Given the description of an element on the screen output the (x, y) to click on. 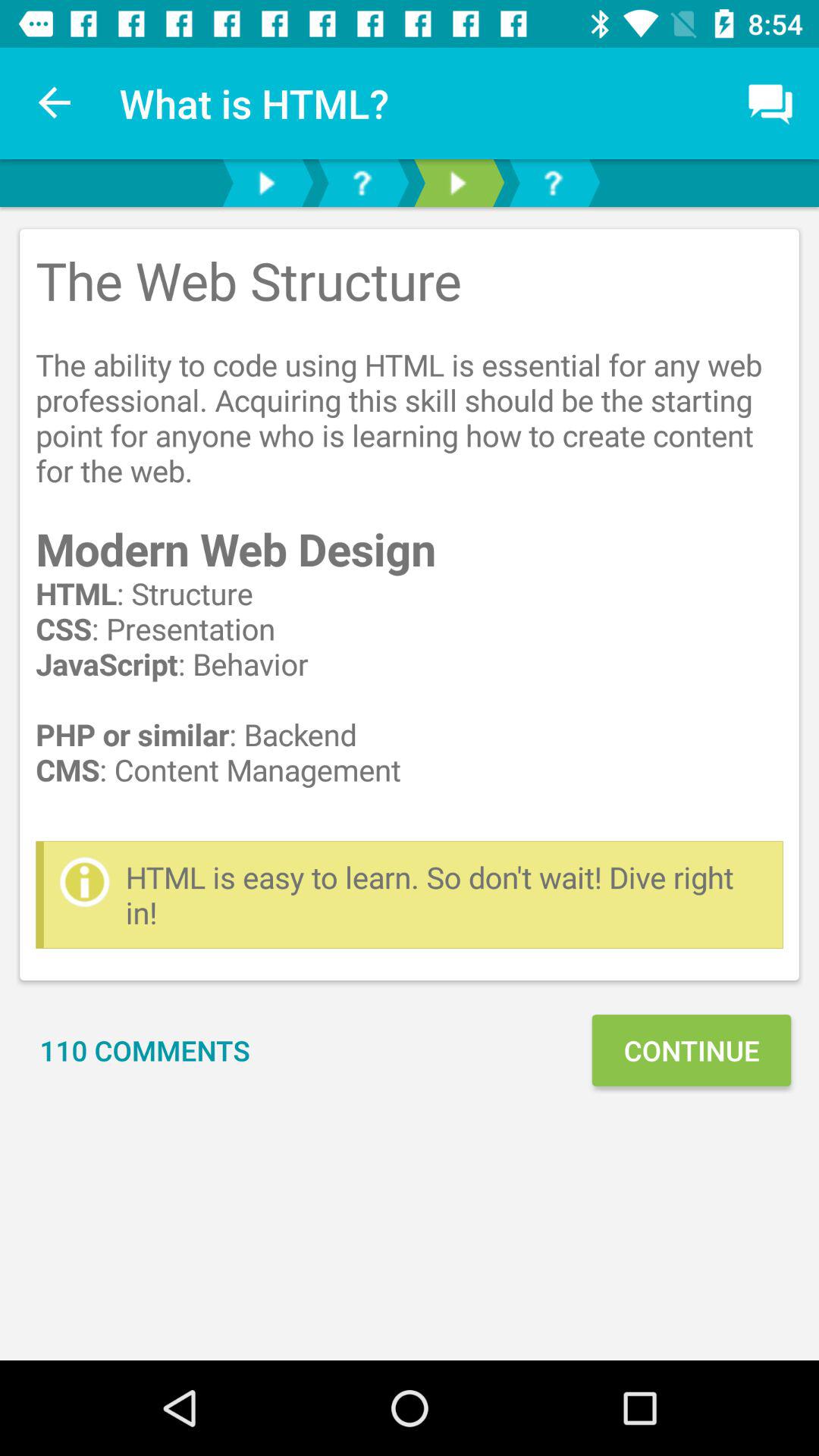
launch the item next to continue item (144, 1050)
